Given the description of an element on the screen output the (x, y) to click on. 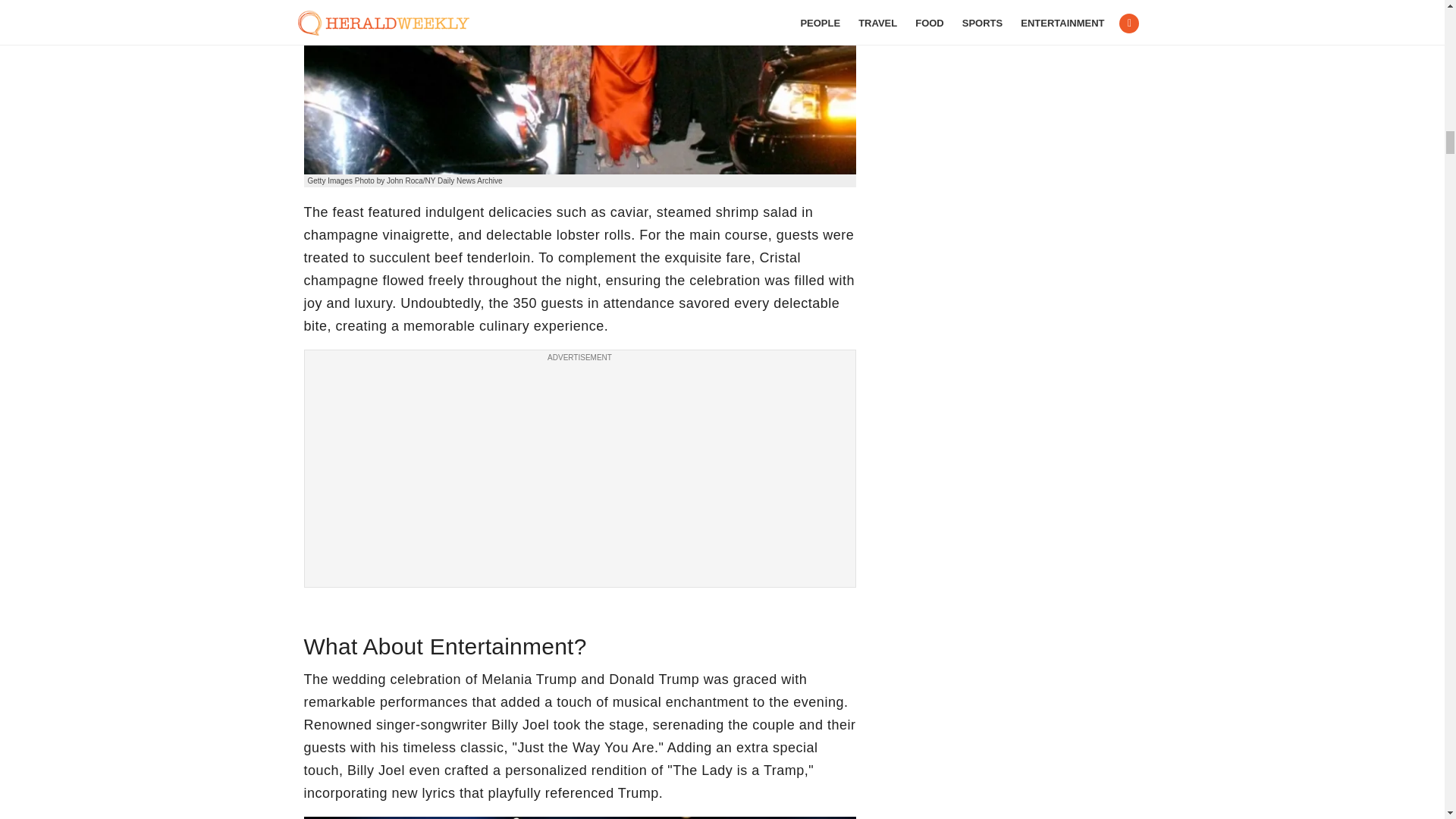
Premium Guest List (579, 87)
